Given the description of an element on the screen output the (x, y) to click on. 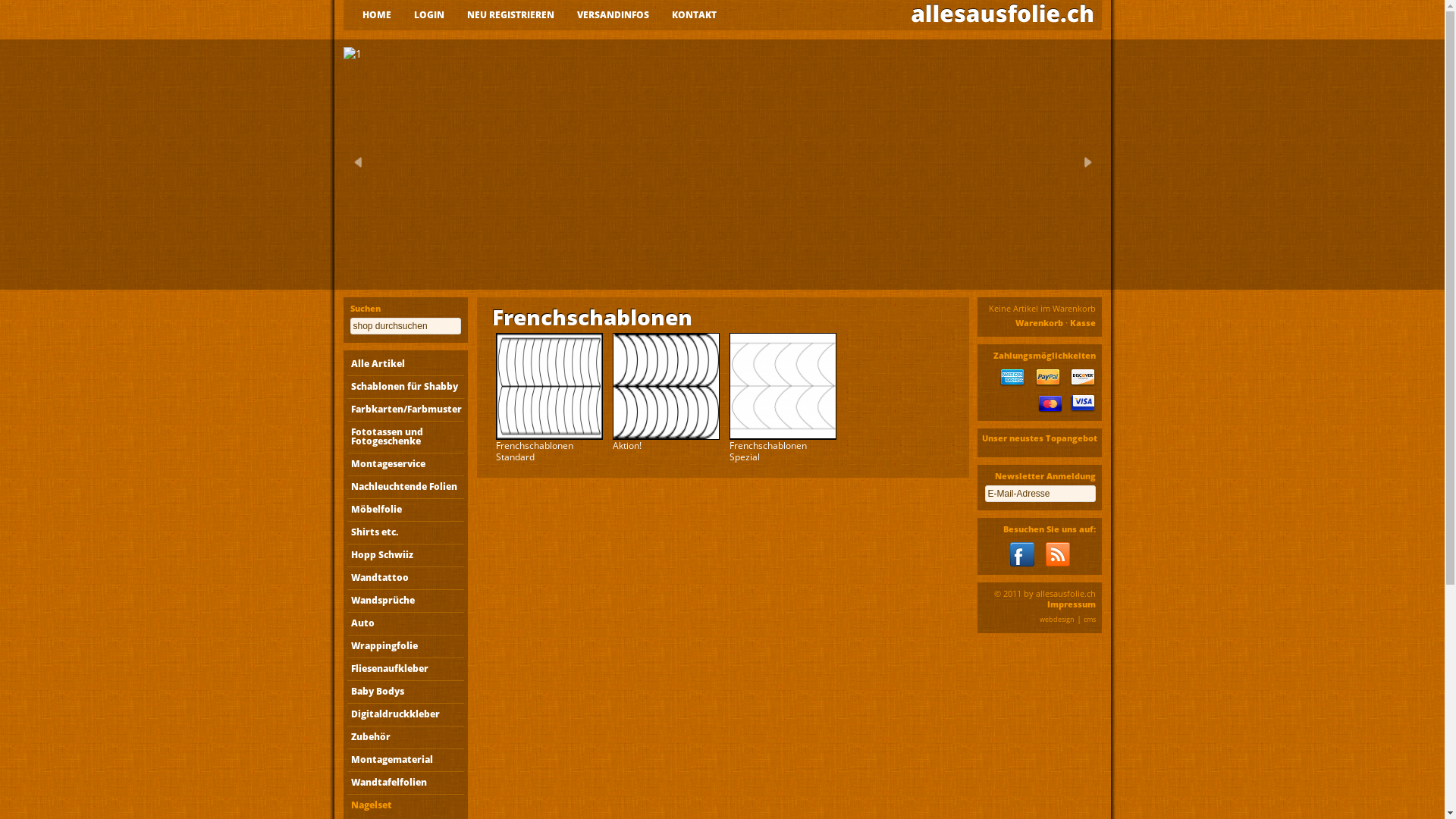
Farbkarten/Farbmuster Element type: text (405, 409)
Warenkorb Element type: text (1038, 322)
HOME Element type: text (376, 15)
NEU REGISTRIEREN Element type: text (510, 15)
 Aktion!  Element type: hover (665, 385)
Fototassen und Fotogeschenke Element type: text (405, 435)
Nachleuchtende Folien Element type: text (405, 486)
Wandtafelfolien Element type: text (405, 782)
cms Element type: text (1088, 619)
Impressum Element type: text (1070, 603)
Baby Bodys Element type: text (405, 691)
Montageservice Element type: text (405, 463)
Shirts etc. Element type: text (405, 531)
 Frenchschablonen Standard  Element type: hover (548, 385)
webdesign Element type: text (1055, 619)
Fliesenaufkleber Element type: text (405, 668)
Wandtattoo Element type: text (405, 577)
Nagelset Element type: text (405, 804)
Kasse Element type: text (1082, 322)
KONTAKT Element type: text (694, 15)
Alle Artikel Element type: text (405, 363)
Wrappingfolie Element type: text (405, 645)
Hopp Schwiiz Element type: text (405, 554)
VERSANDINFOS Element type: text (611, 15)
LOGIN Element type: text (428, 15)
 Frenchschablonen Spezial  Element type: hover (782, 385)
Digitaldruckkleber Element type: text (405, 713)
Auto Element type: text (405, 622)
Montagematerial Element type: text (405, 759)
